Given the description of an element on the screen output the (x, y) to click on. 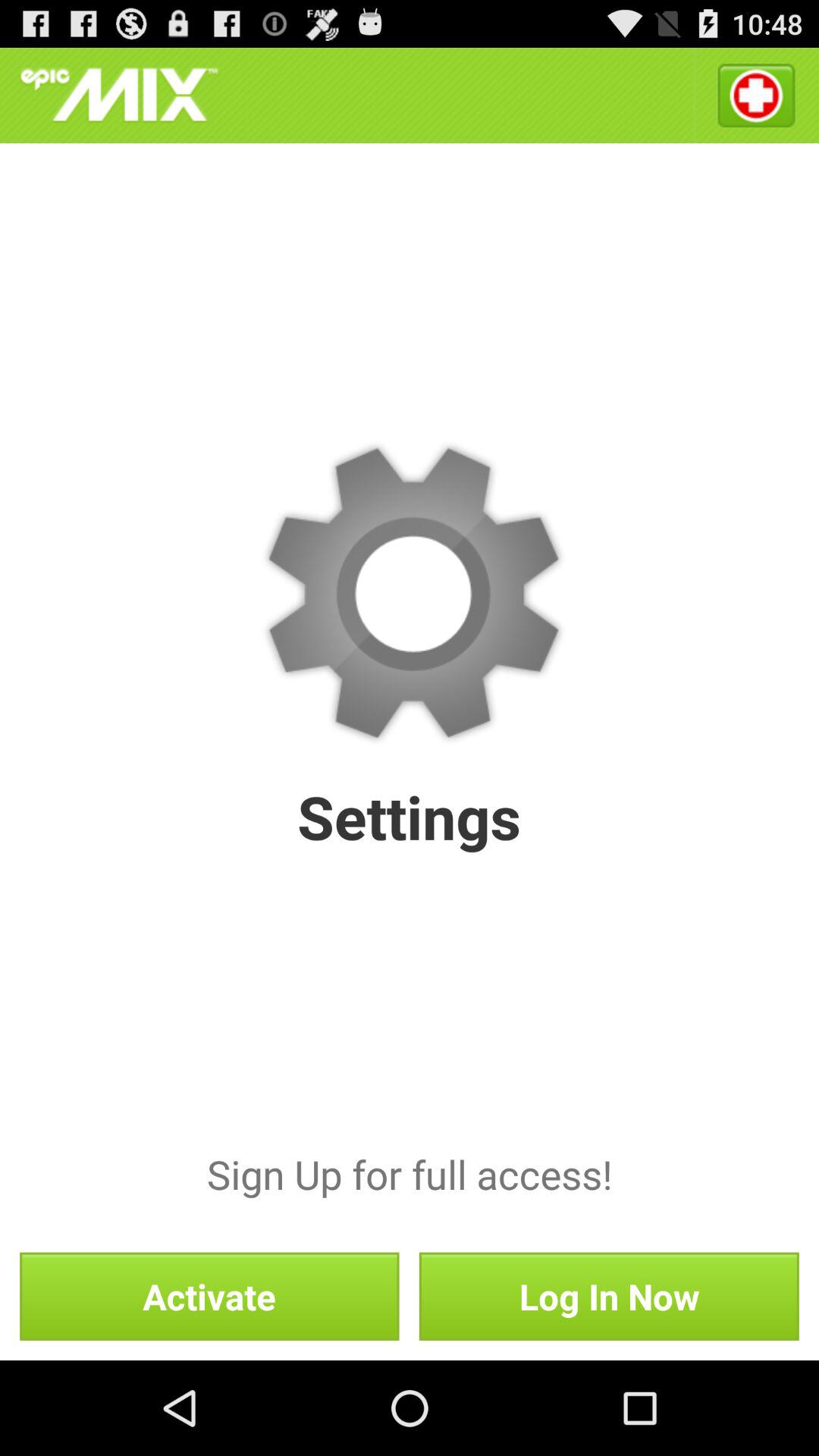
swipe to log in now item (609, 1296)
